Given the description of an element on the screen output the (x, y) to click on. 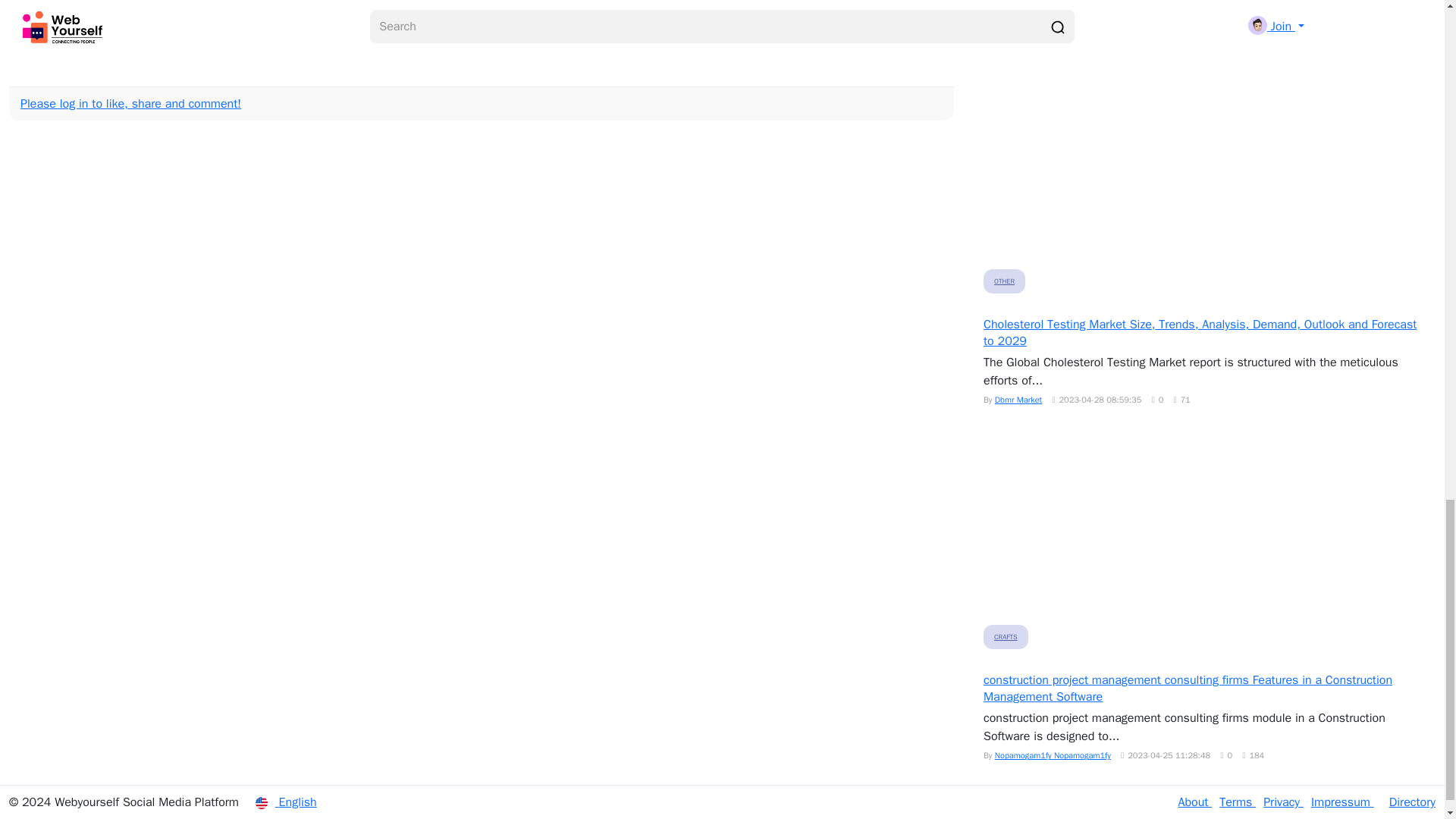
Please log in to like, share and comment! (130, 103)
SATTAKING (180, 39)
SATTA (353, 39)
